Given the description of an element on the screen output the (x, y) to click on. 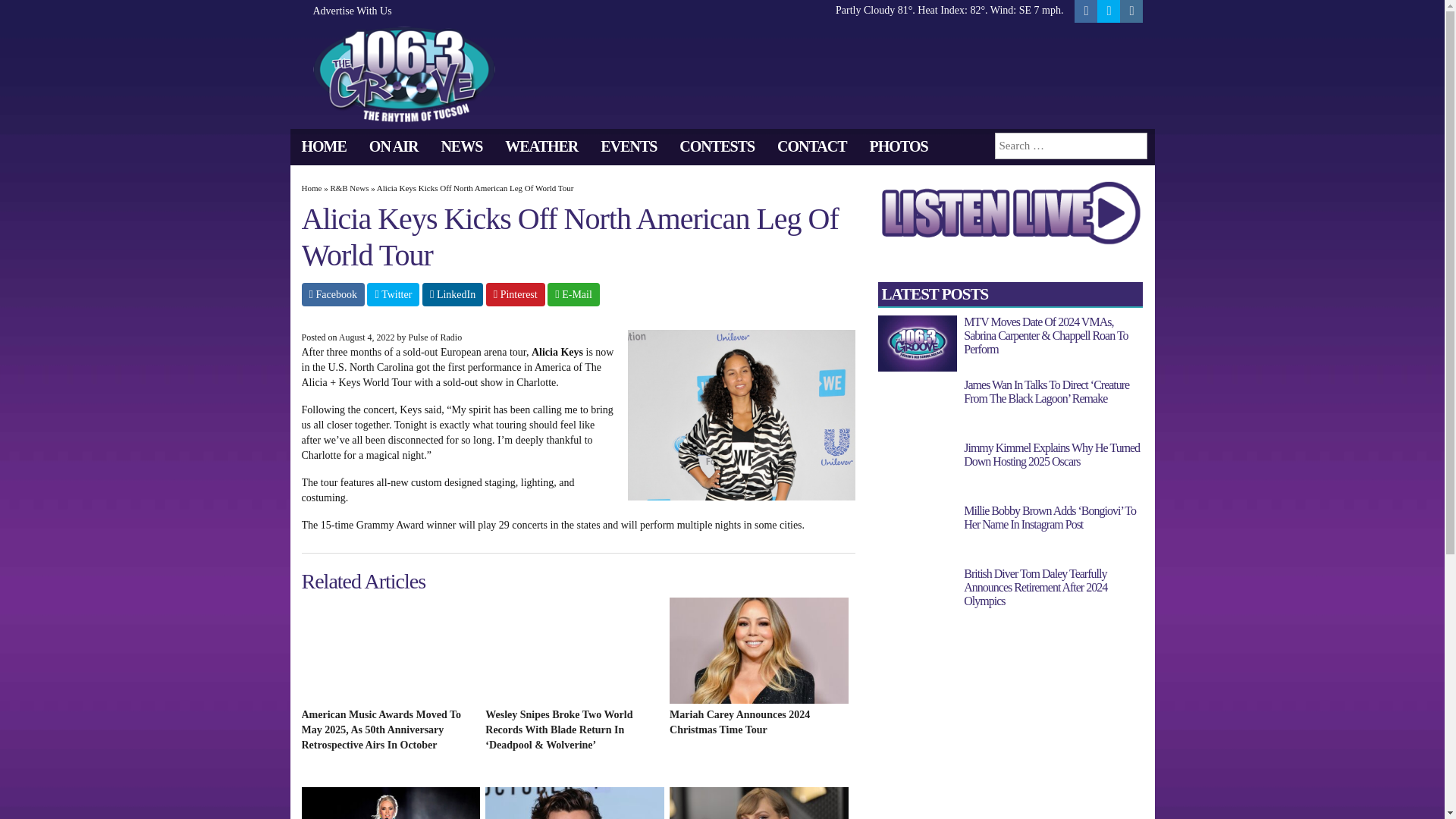
Pulse of Radio (436, 337)
Share to E-Mail (573, 294)
Twitter (392, 294)
ON AIR (393, 146)
Pinterest (515, 294)
Share to Facebook (333, 294)
106.3 The Groove (404, 73)
Share to LinkedIn (452, 294)
EVENTS (628, 146)
